Given the description of an element on the screen output the (x, y) to click on. 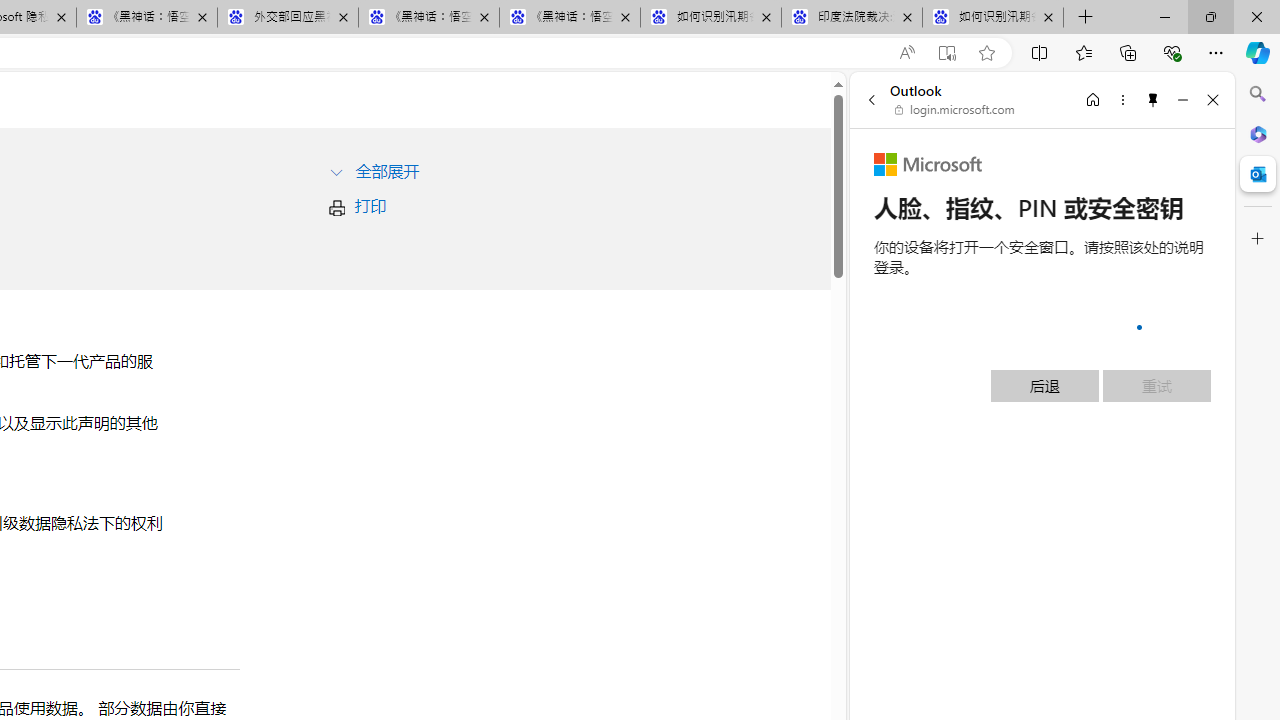
Enter Immersive Reader (F9) (946, 53)
Microsoft (927, 164)
login.microsoft.com (955, 110)
Unpin side pane (1153, 99)
